Given the description of an element on the screen output the (x, y) to click on. 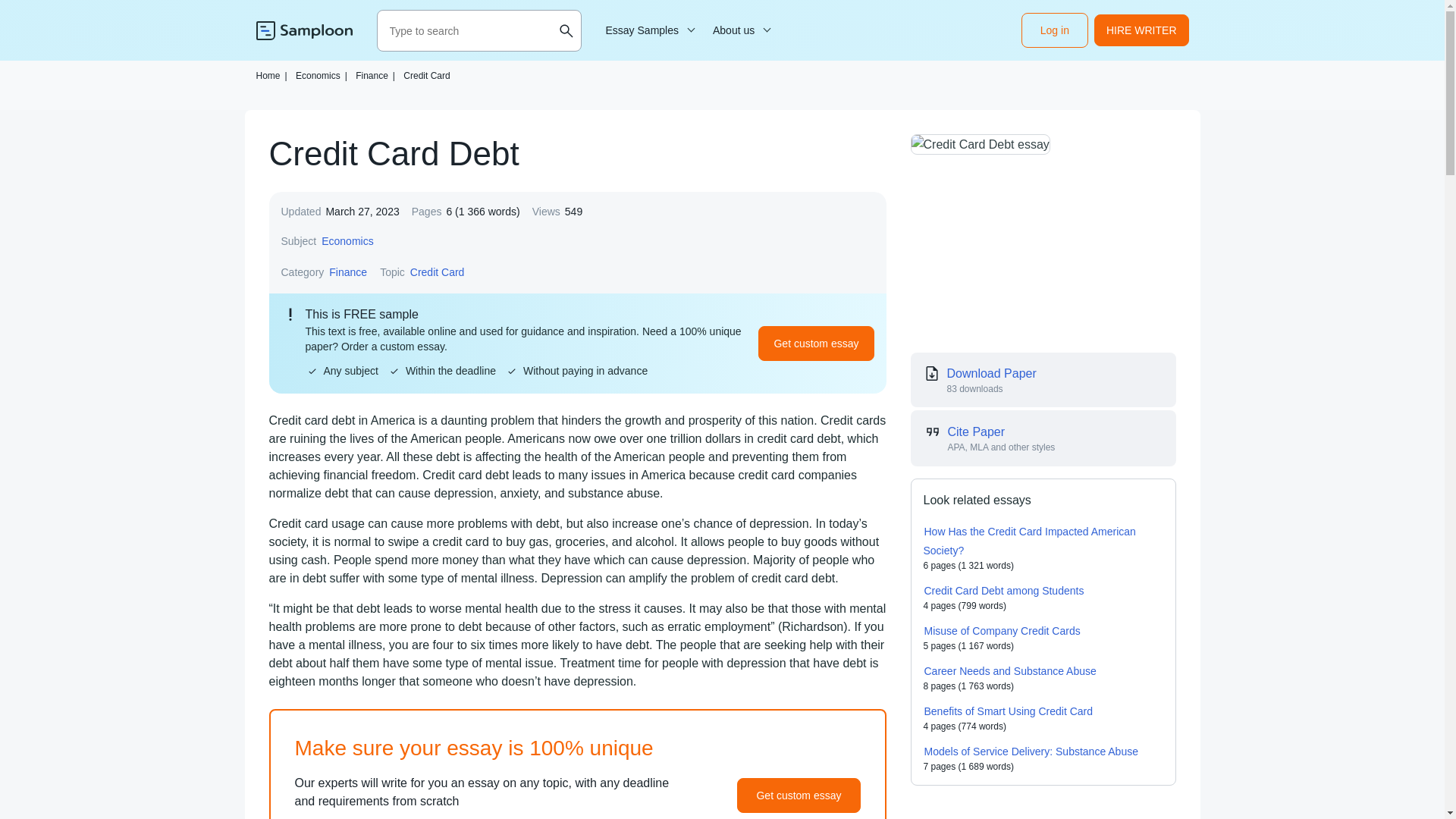
Credit Card (437, 272)
Credit Card (426, 75)
Essay Samples (647, 30)
Credit Card Debt (979, 144)
About us (739, 30)
Finance (348, 272)
Economics (347, 241)
